Given the description of an element on the screen output the (x, y) to click on. 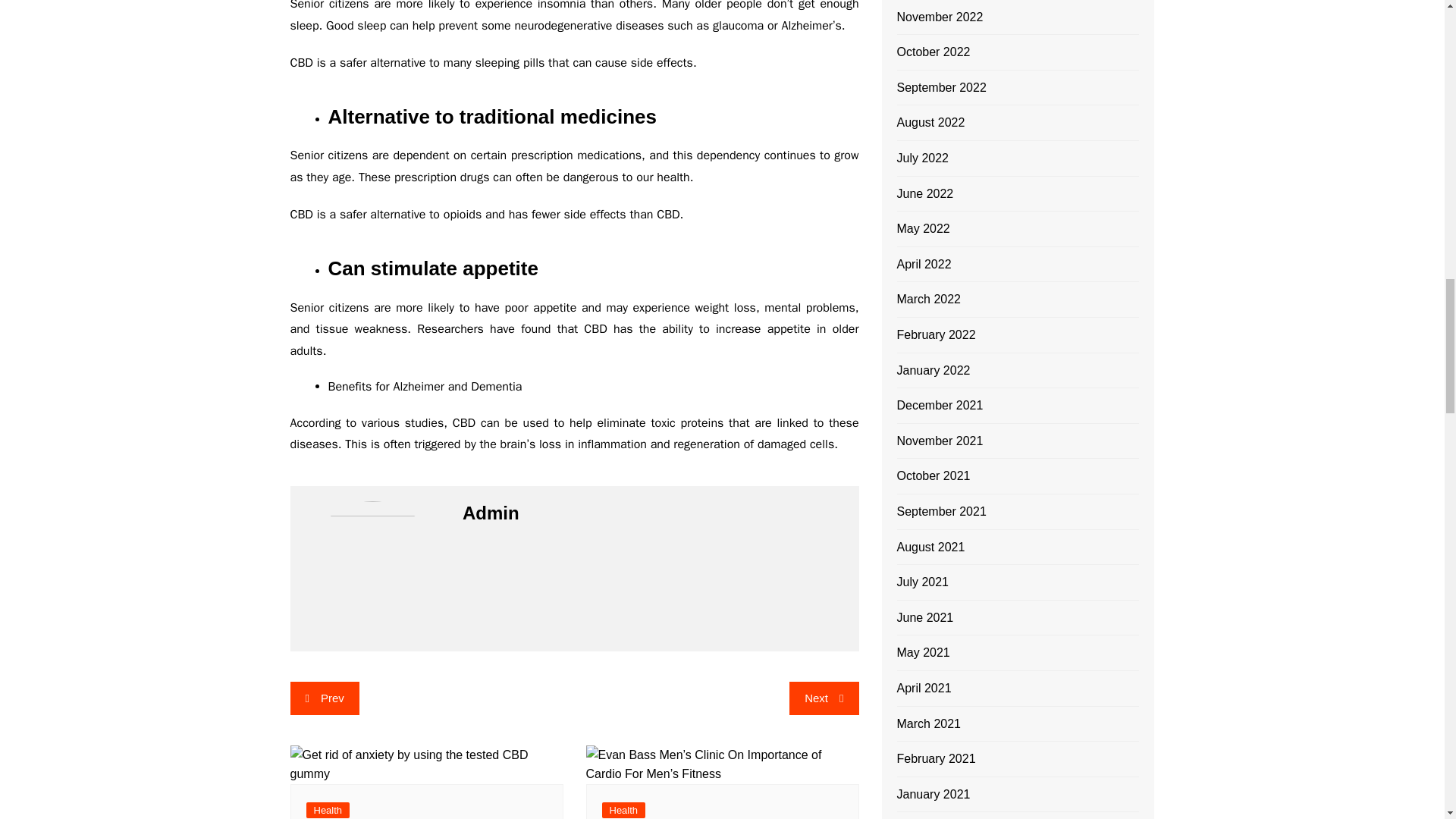
Health (624, 810)
Health (327, 810)
Prev (323, 697)
Next (824, 697)
